Given the description of an element on the screen output the (x, y) to click on. 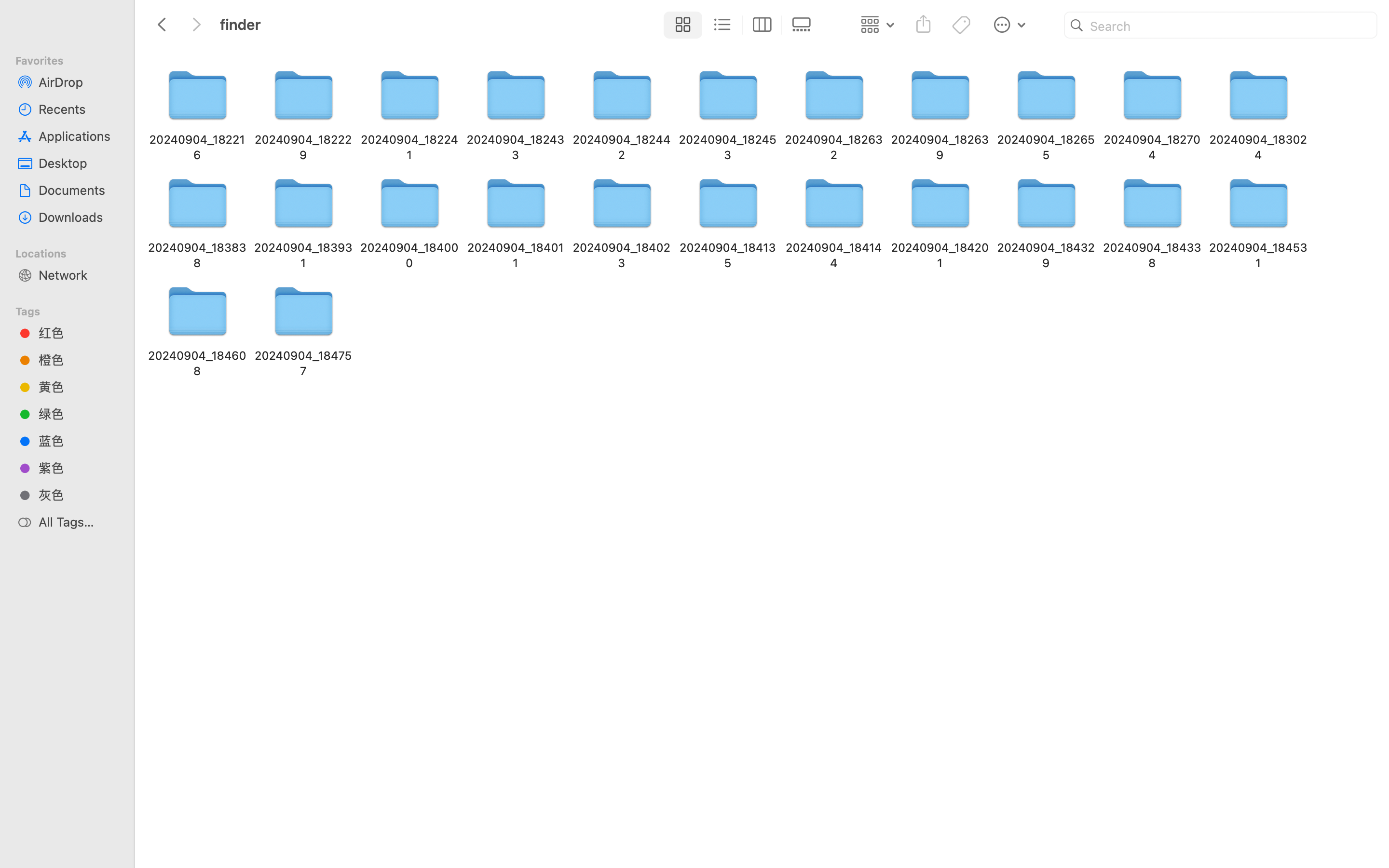
Applications Element type: AXStaticText (77, 135)
黄色 Element type: AXStaticText (77, 386)
紫色 Element type: AXStaticText (77, 467)
Network Element type: AXStaticText (77, 274)
finder Element type: AXStaticText (437, 827)
